Given the description of an element on the screen output the (x, y) to click on. 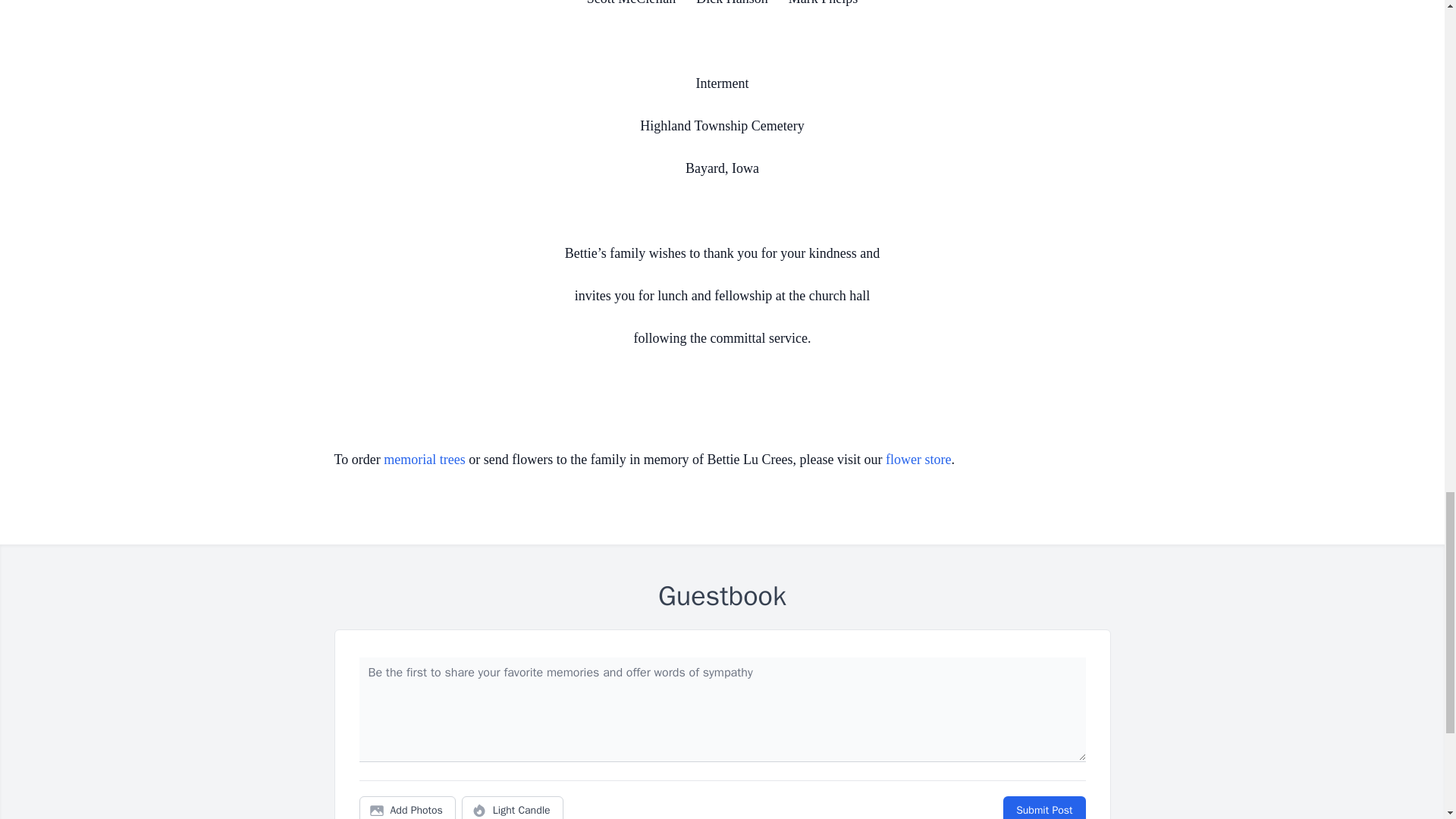
Add Photos (407, 807)
flower store (917, 459)
Light Candle (512, 807)
memorial trees (424, 459)
Submit Post (1043, 807)
